Given the description of an element on the screen output the (x, y) to click on. 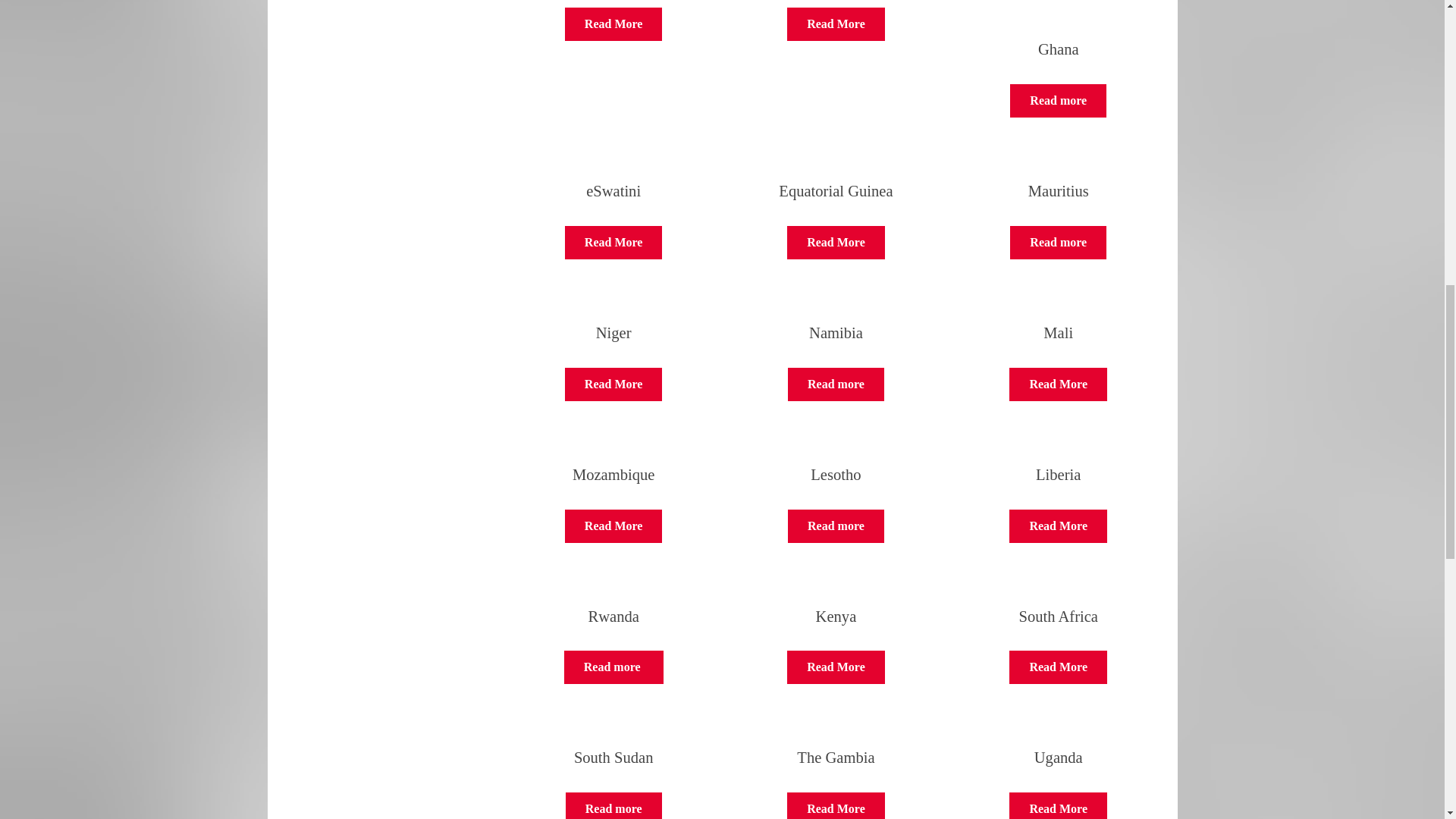
Read more (1058, 242)
Read more (1057, 805)
Read more (1057, 525)
Read more (835, 384)
